Given the description of an element on the screen output the (x, y) to click on. 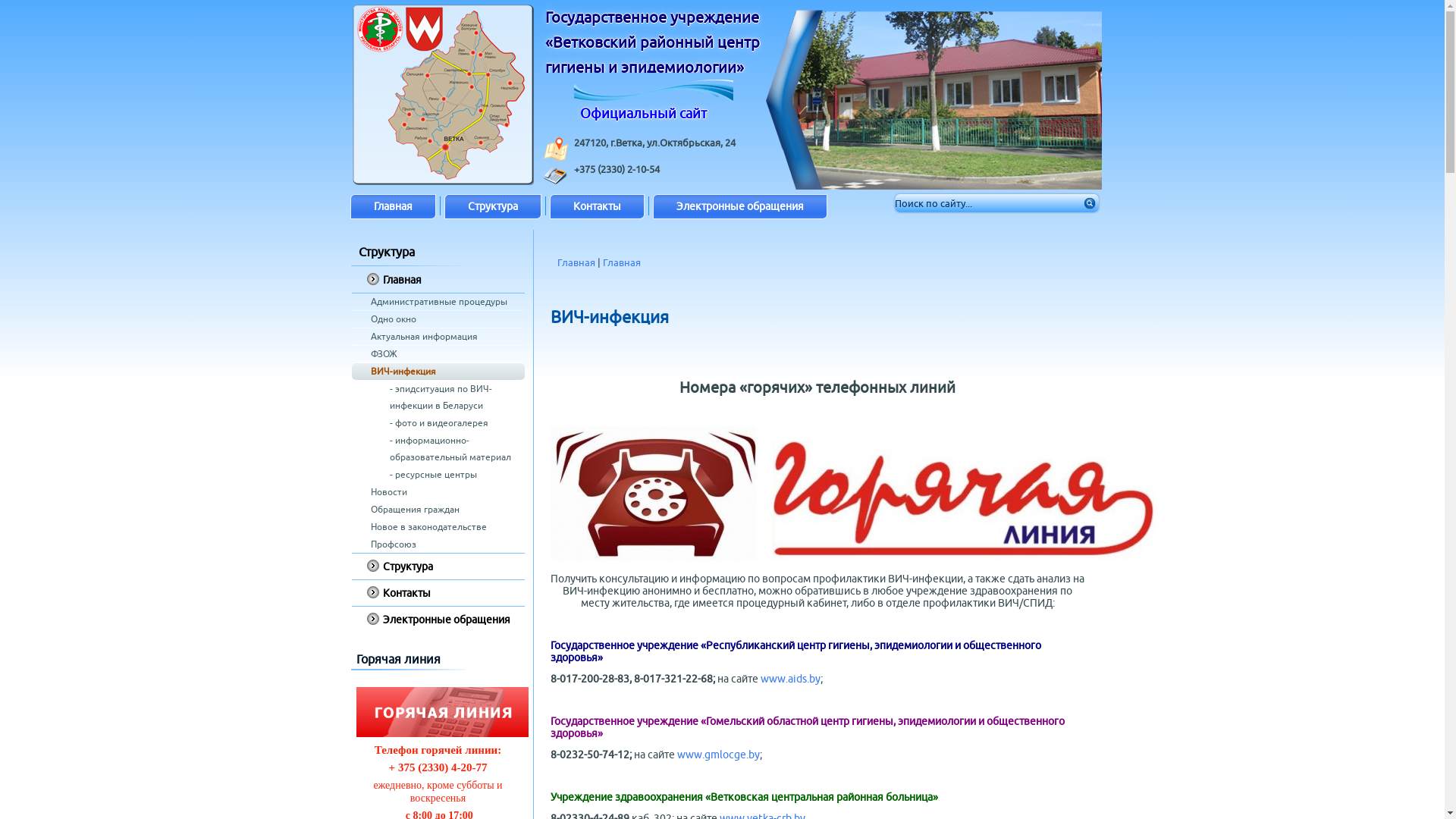
www.gmlocge.by Element type: text (717, 754)
www.aids.by Element type: text (789, 678)
